Given the description of an element on the screen output the (x, y) to click on. 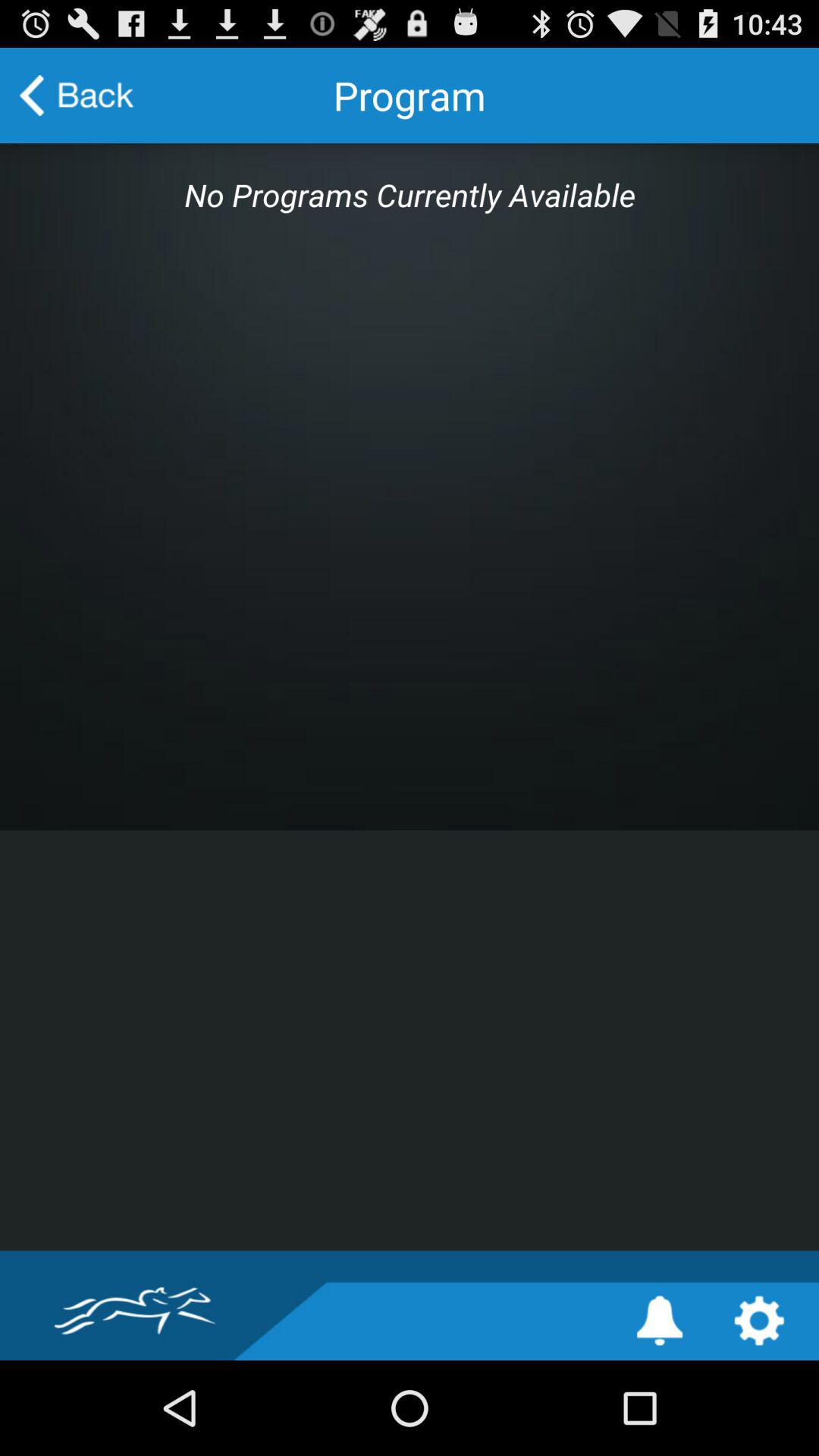
go to settings (759, 1320)
